Given the description of an element on the screen output the (x, y) to click on. 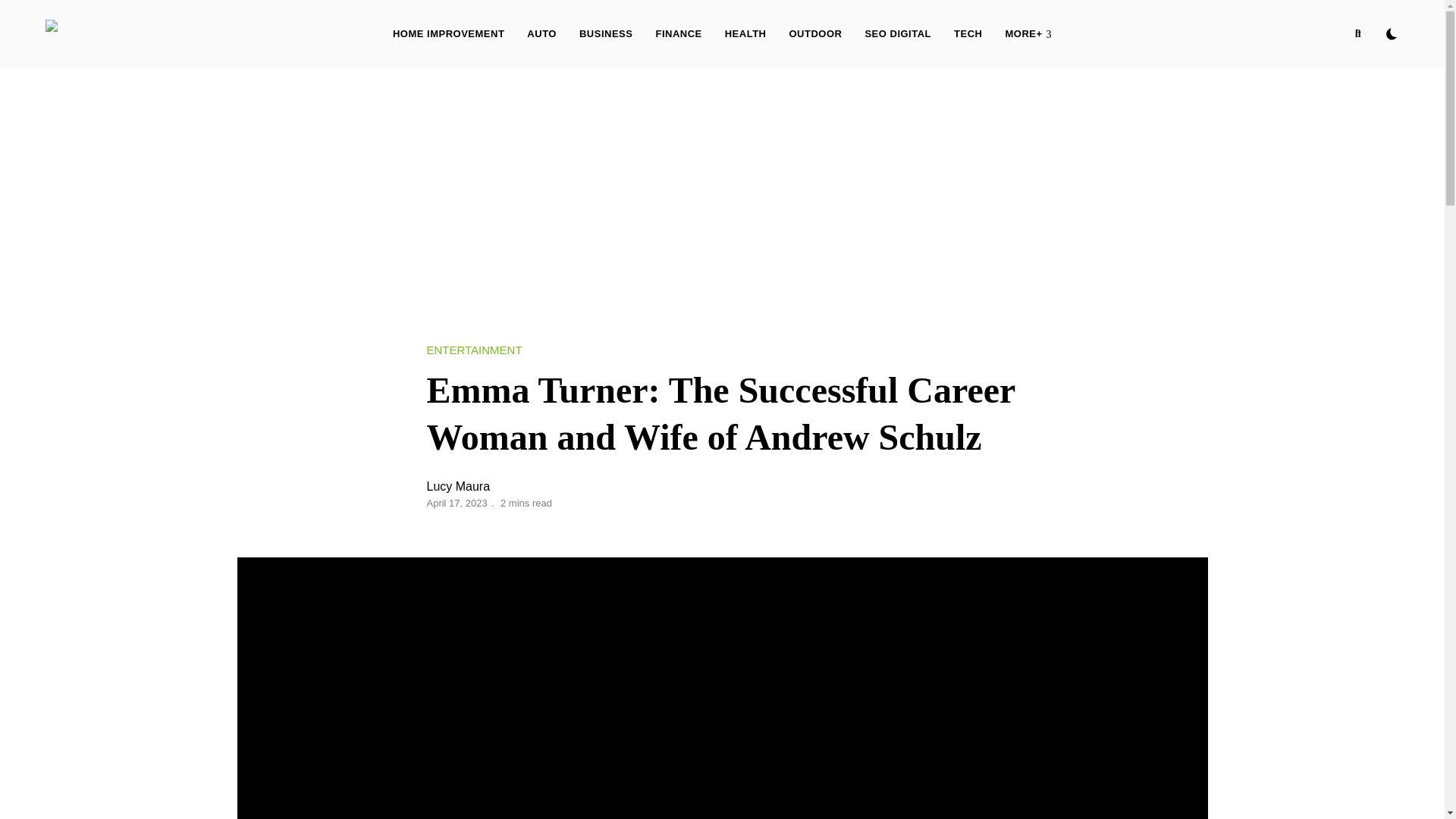
HEALTH (745, 33)
ENTERTAINMENT (473, 350)
Lucy Maura (457, 486)
OUTDOOR (815, 33)
BUSINESS (605, 33)
FINANCE (678, 33)
SEO DIGITAL (897, 33)
HOME IMPROVEMENT (448, 33)
